Given the description of an element on the screen output the (x, y) to click on. 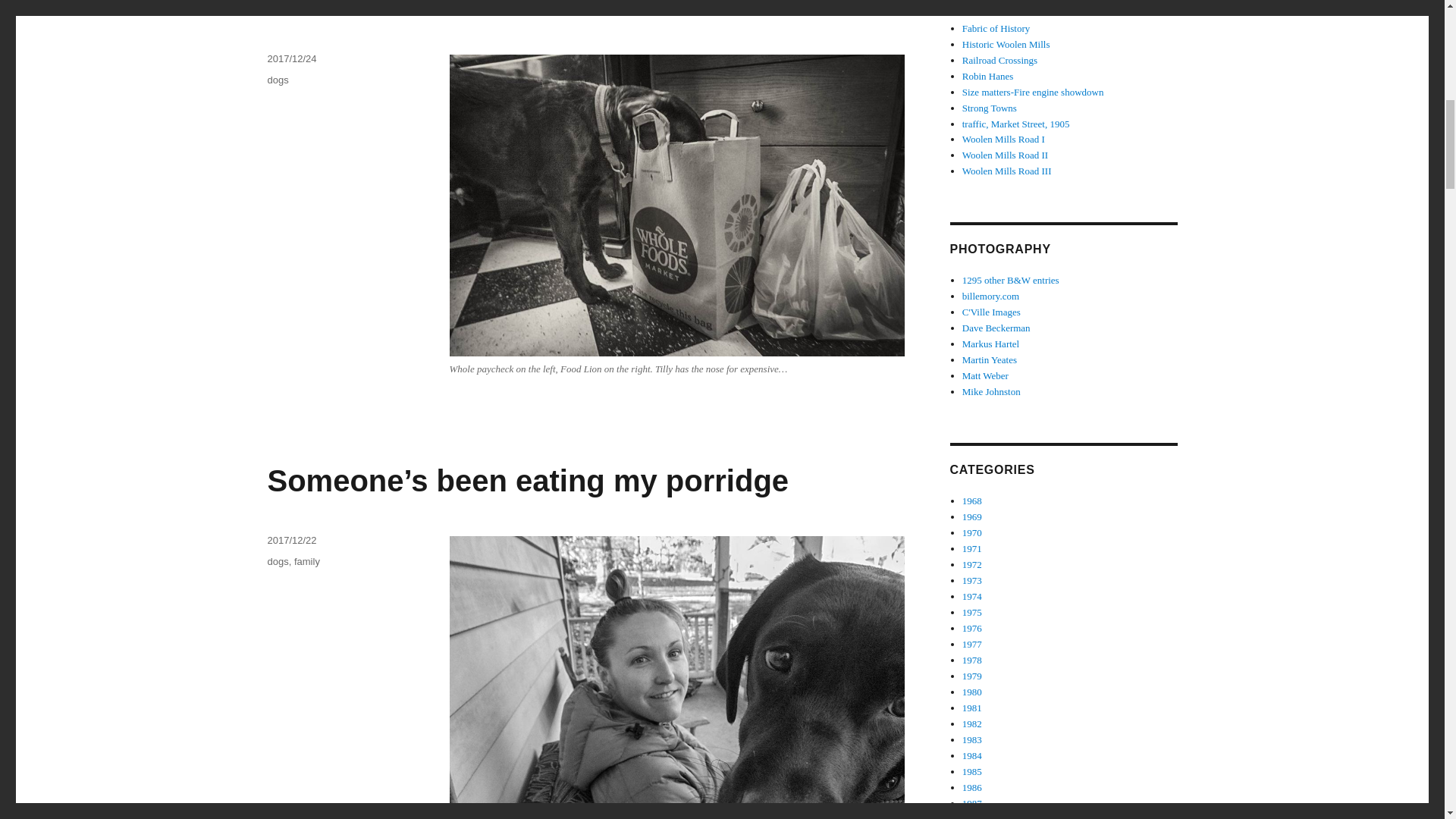
kitchen help (355, 7)
dogs (277, 561)
Woolen Mills Village blog (996, 28)
dogs (277, 79)
expat RISD lady (996, 12)
family (307, 561)
